Given the description of an element on the screen output the (x, y) to click on. 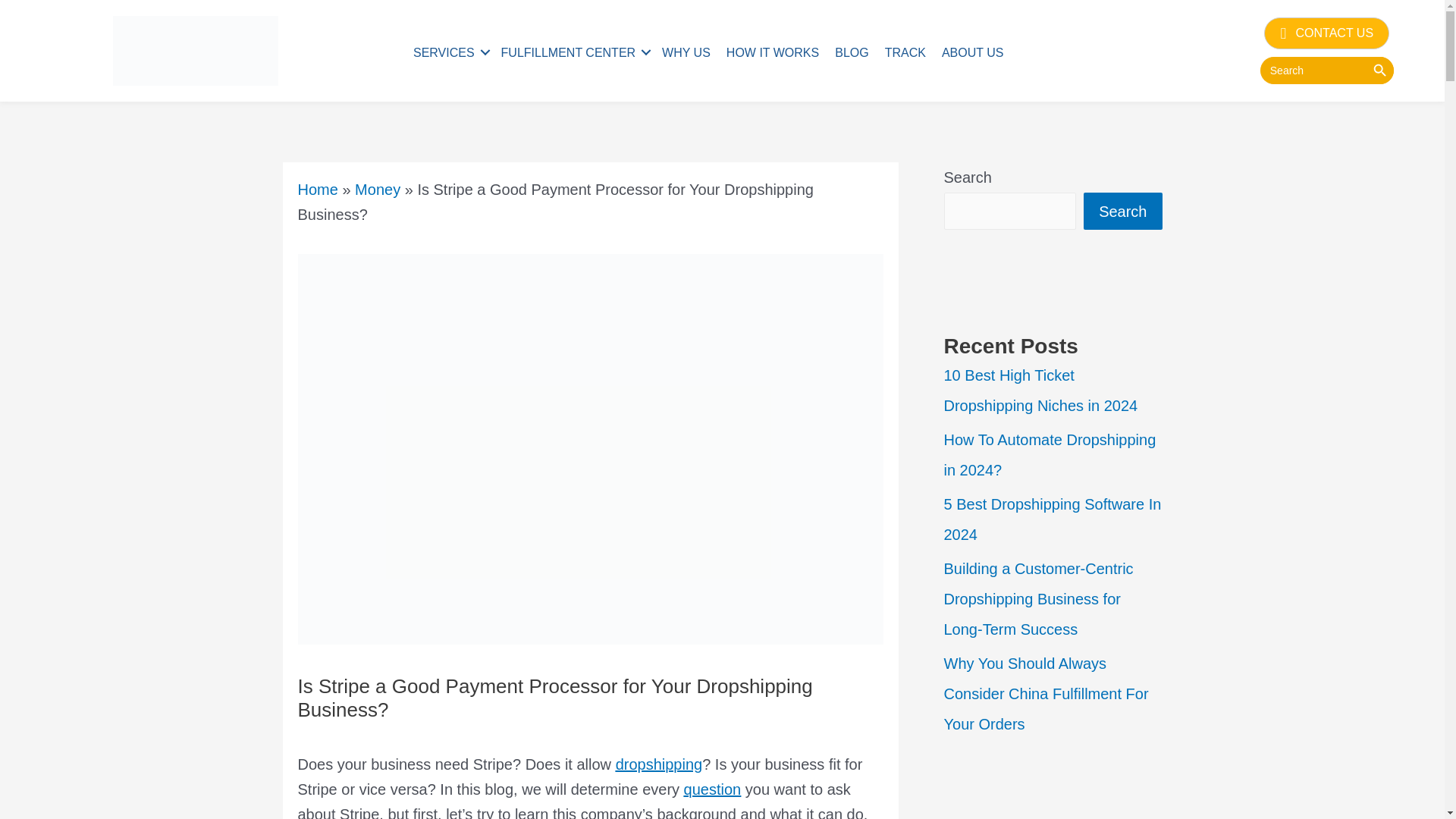
question (712, 789)
CONTACT US (1326, 33)
Money (377, 189)
FULFILLMENT CENTER (573, 52)
SERVICES (449, 52)
TRACK (905, 52)
Home (317, 189)
ABOUT US (972, 52)
Search Button (1380, 70)
BLOG (851, 52)
HOW IT WORKS (773, 52)
dropshipping (659, 764)
WHY US (685, 52)
